Given the description of an element on the screen output the (x, y) to click on. 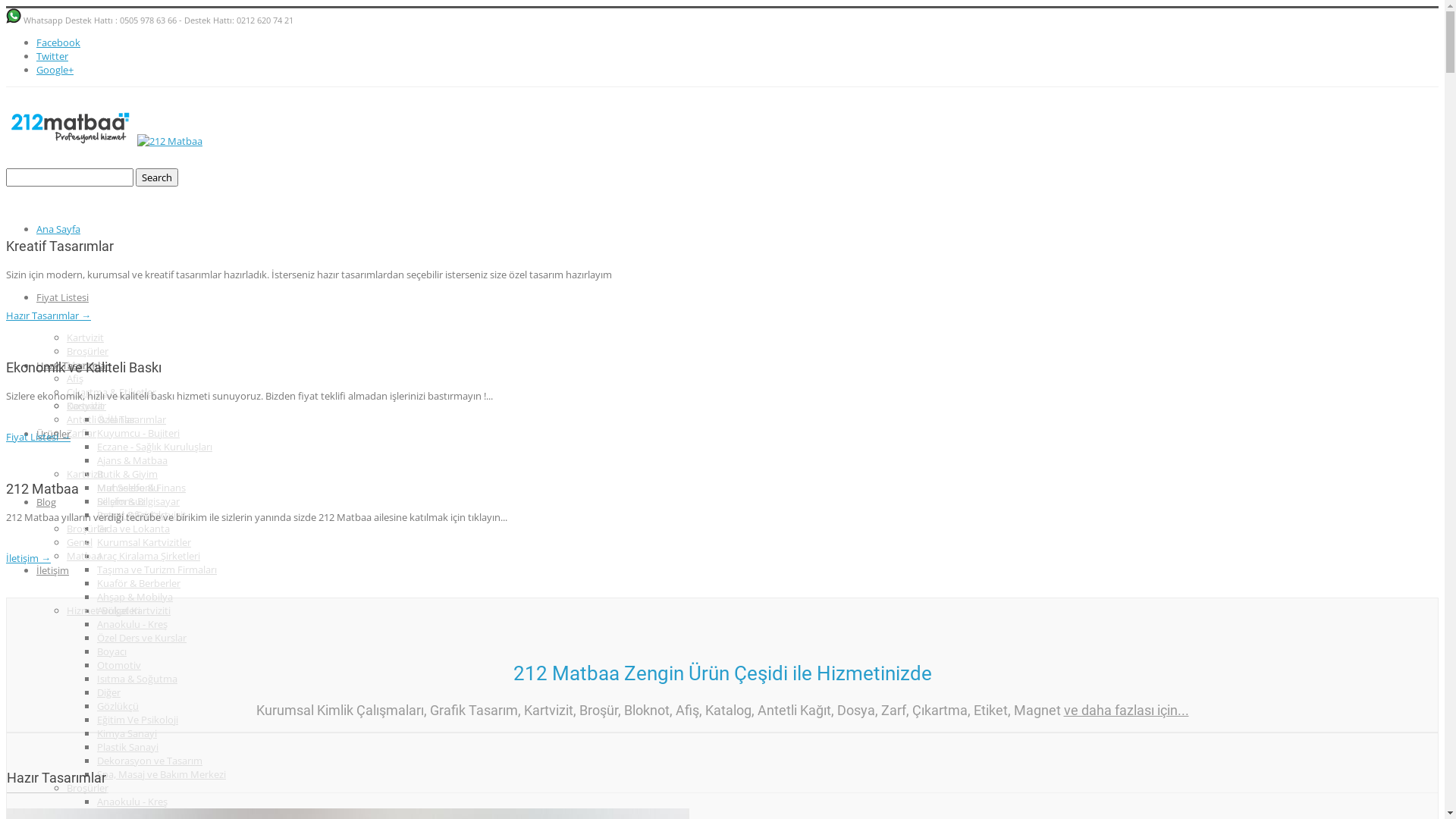
Avukat Kartviziti Element type: text (133, 610)
Google+ Element type: text (54, 69)
Kartvizit Element type: text (84, 405)
Otomotiv Element type: text (119, 664)
Matbaa Element type: text (83, 555)
Ana Sayfa Element type: text (58, 228)
Genel Element type: text (79, 542)
Zarflar Element type: text (81, 432)
Kuyumcu - Bujiteri Element type: text (138, 432)
Magnet Element type: text (83, 364)
Kartvizit Element type: text (84, 473)
Blog Element type: text (46, 501)
Dosyalar Element type: text (86, 405)
Kurumsal Kartvizitler Element type: text (144, 542)
Ajans & Matbaa Element type: text (132, 460)
Twitter Element type: text (52, 55)
Kimya Sanayi Element type: text (126, 733)
Plastik Sanayi Element type: text (127, 746)
Search Element type: text (156, 177)
Facebook Element type: text (58, 42)
Mat Selefonlu Element type: text (128, 487)
Kartvizit Element type: text (84, 337)
Muhasebe & Finans Element type: text (141, 487)
Butik & Giyim Element type: text (127, 473)
Petrol Ofisi Kartvizit Element type: text (141, 514)
Selefonsuz Element type: text (121, 501)
Fiyat Listesi Element type: text (62, 297)
